Given the description of an element on the screen output the (x, y) to click on. 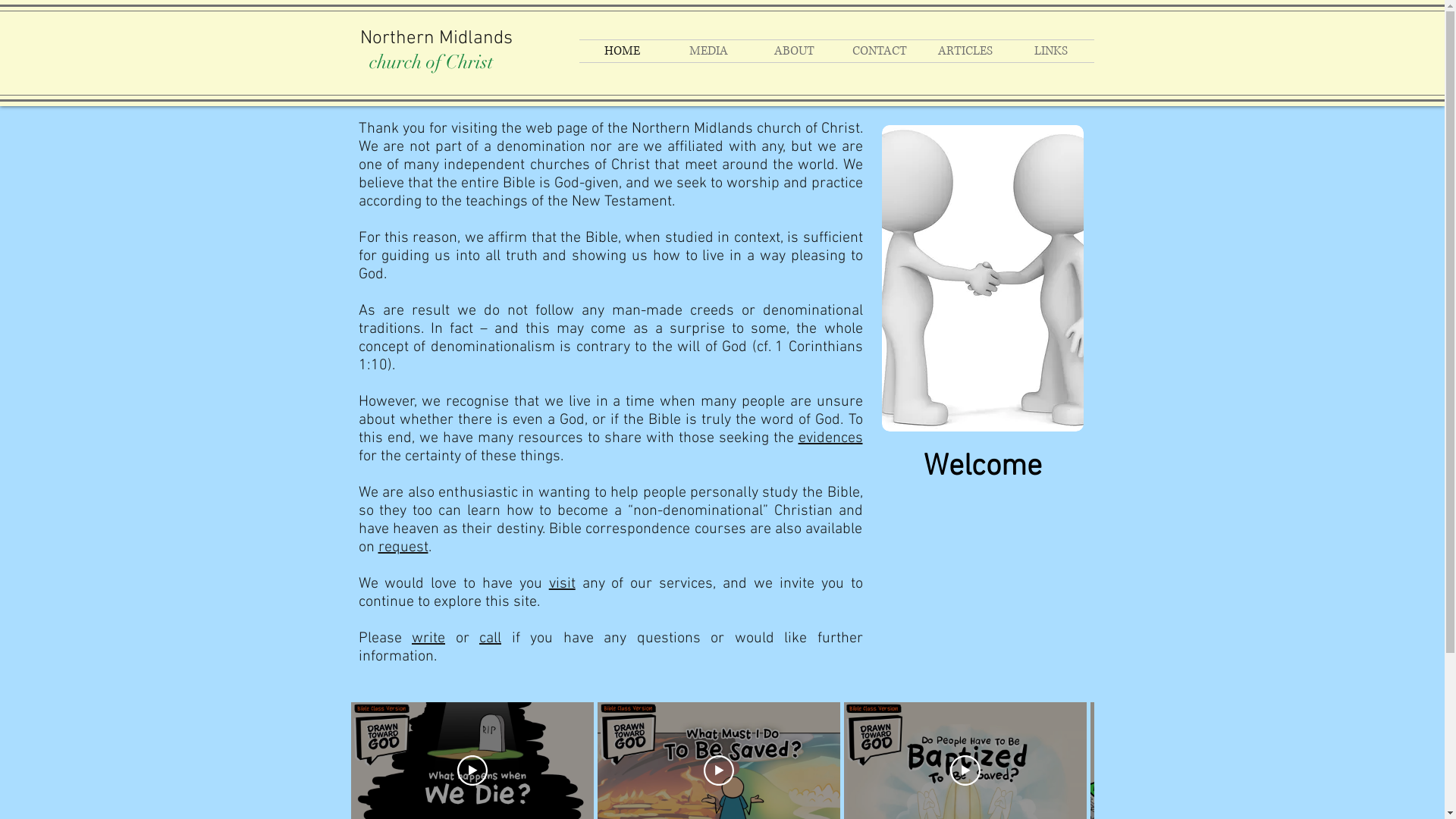
CONTACT Element type: text (879, 51)
visit Element type: text (562, 583)
call Element type: text (490, 638)
ARTICLES Element type: text (964, 51)
church of Christ Element type: text (430, 61)
write Element type: text (428, 638)
ABOUT Element type: text (793, 51)
request Element type: text (402, 547)
Northern Midlands Element type: text (435, 38)
LINKS Element type: text (1051, 51)
HOME Element type: text (622, 51)
evidences Element type: text (829, 438)
